Given the description of an element on the screen output the (x, y) to click on. 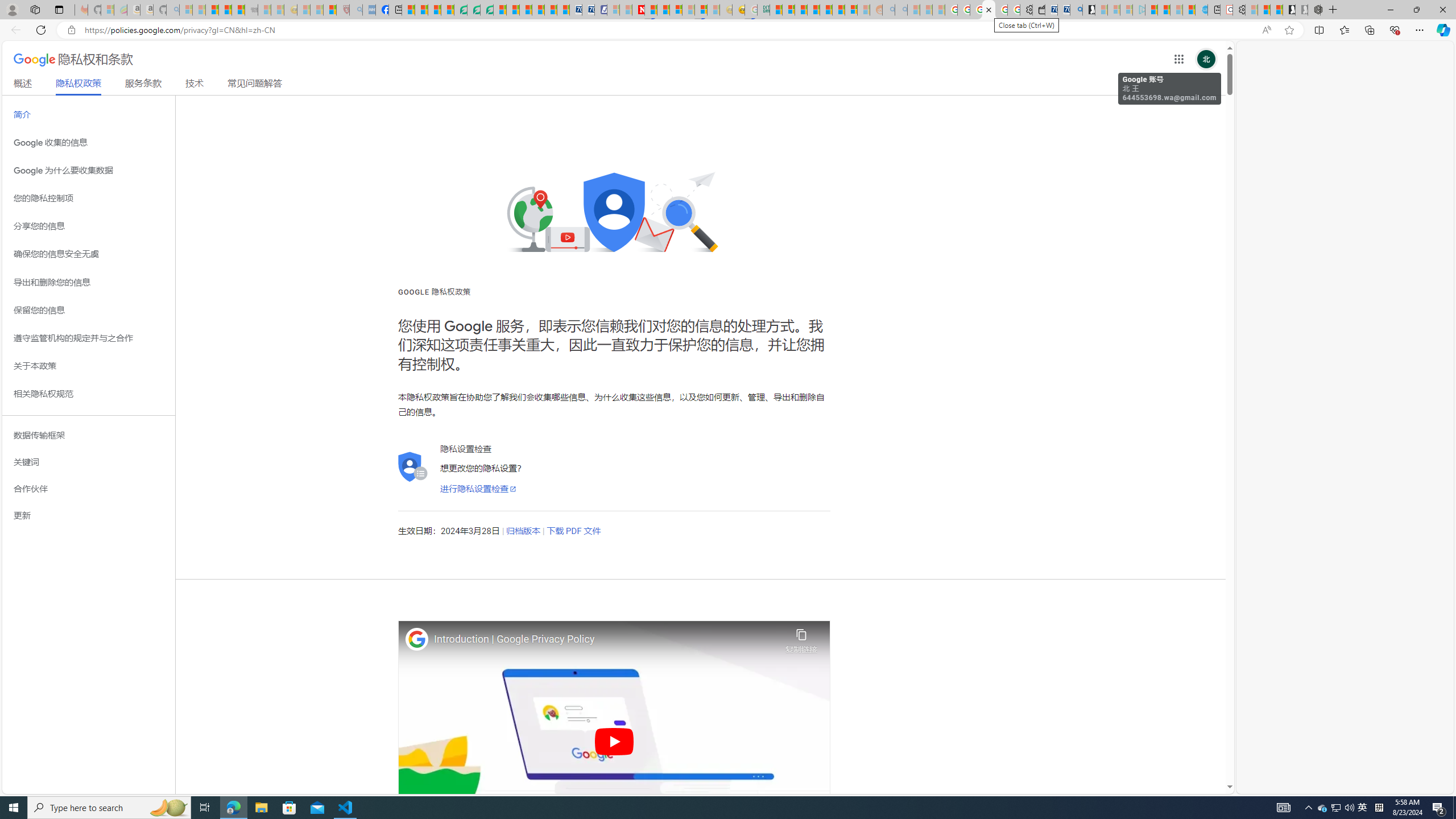
Terms of Use Agreement (473, 9)
Student Loan Update: Forgiveness Program Ends This Month (813, 9)
Introduction | Google Privacy Policy (606, 639)
